Given the description of an element on the screen output the (x, y) to click on. 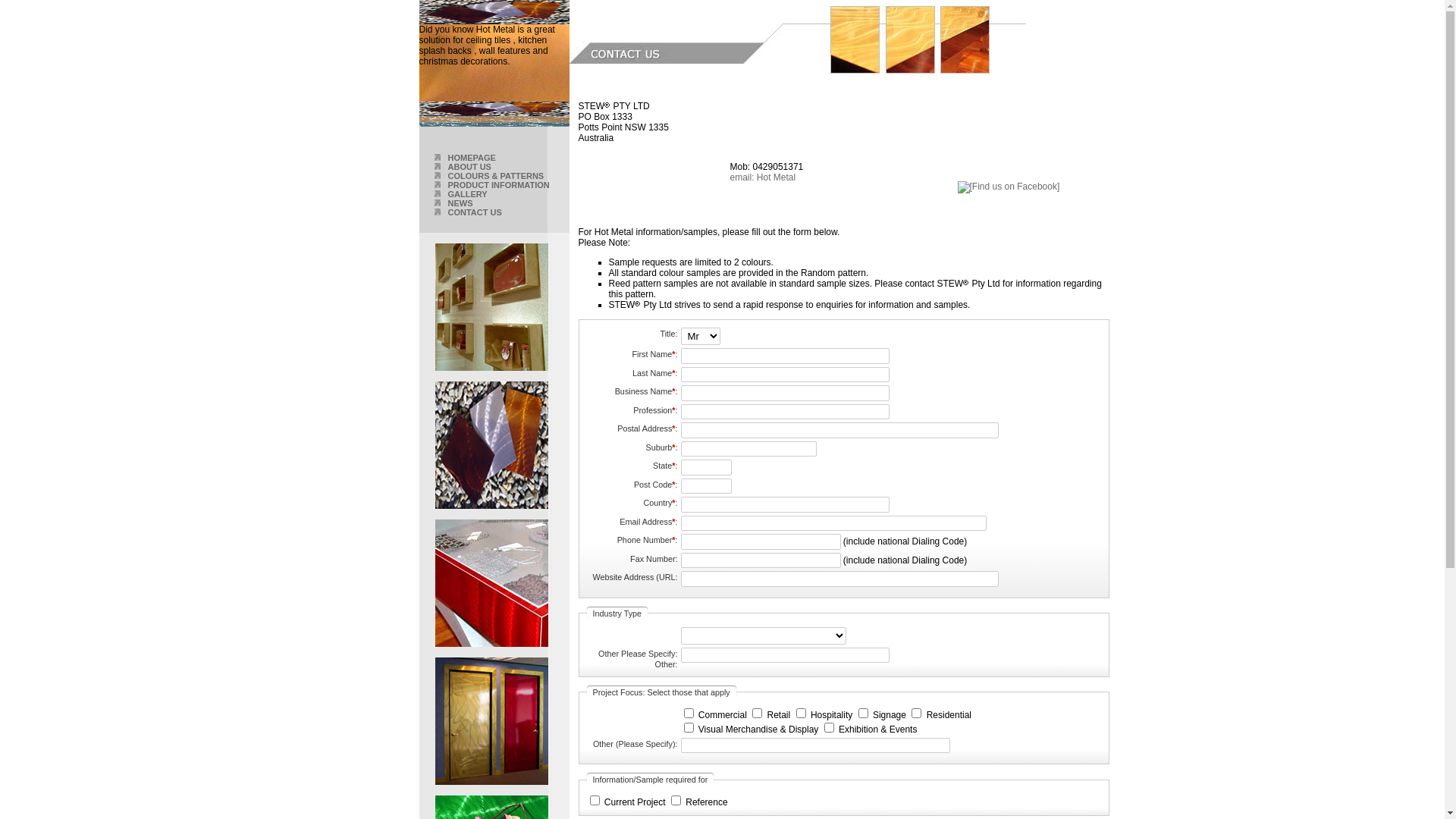
HOMEPAGE Element type: text (471, 157)
GALLERY Element type: text (466, 193)
CONTACT US Element type: text (474, 211)
email: Hot Metal Element type: text (762, 177)
COLOURS & PATTERNS Element type: text (495, 175)
ABOUT US Element type: text (468, 166)
NEWS Element type: text (459, 202)
PRODUCT INFORMATION Element type: text (498, 184)
